Given the description of an element on the screen output the (x, y) to click on. 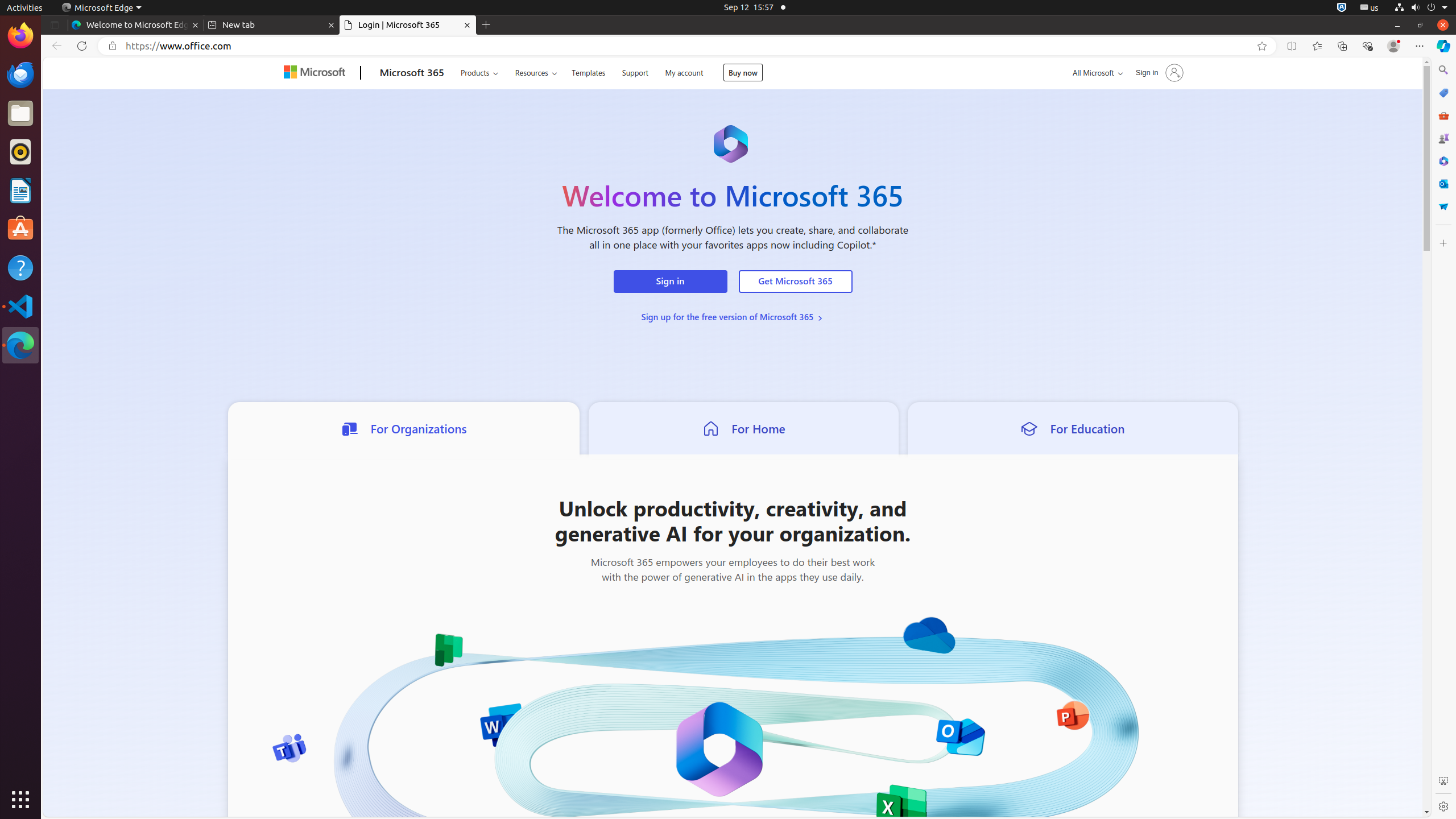
All Microsoft  Element type: push-button (1095, 72)
Browser essentials Element type: push-button (1366, 45)
Microsoft 365 Element type: push-button (1443, 160)
Search Element type: push-button (1443, 69)
:1.21/StatusNotifierItem Element type: menu (1369, 7)
